Given the description of an element on the screen output the (x, y) to click on. 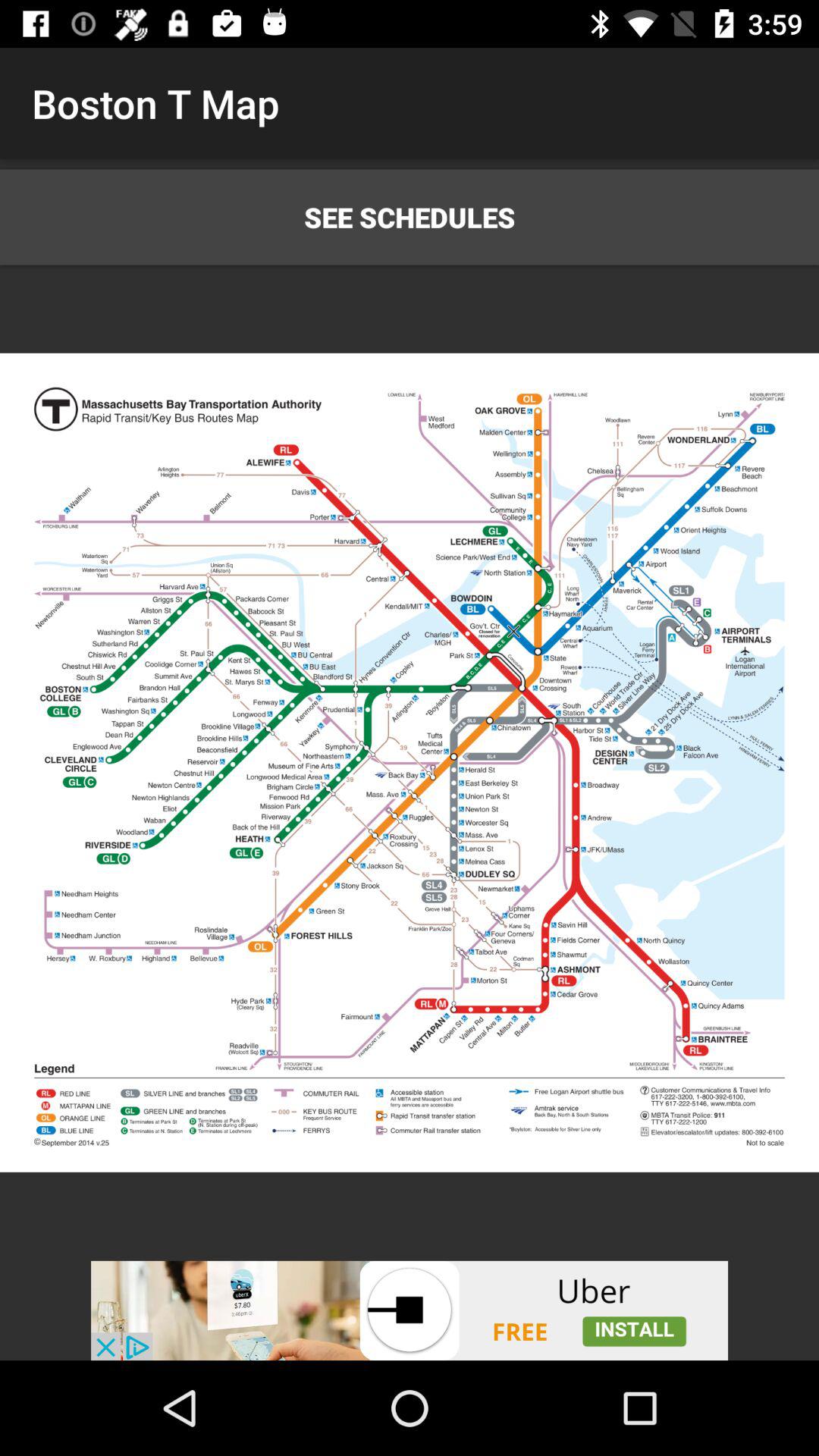
unrelated advertisement (409, 1310)
